Given the description of an element on the screen output the (x, y) to click on. 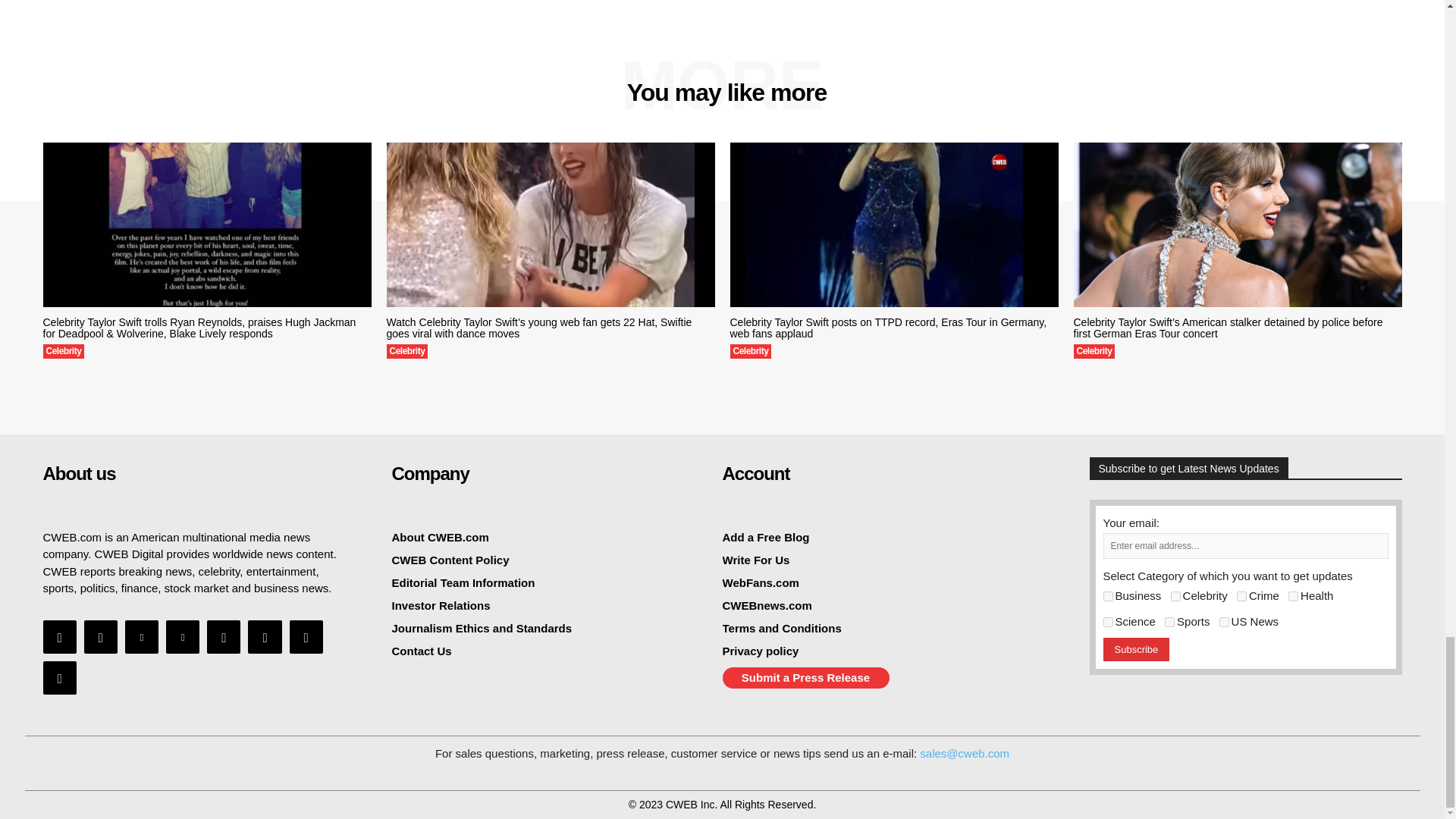
Subscribe (1135, 649)
